Given the description of an element on the screen output the (x, y) to click on. 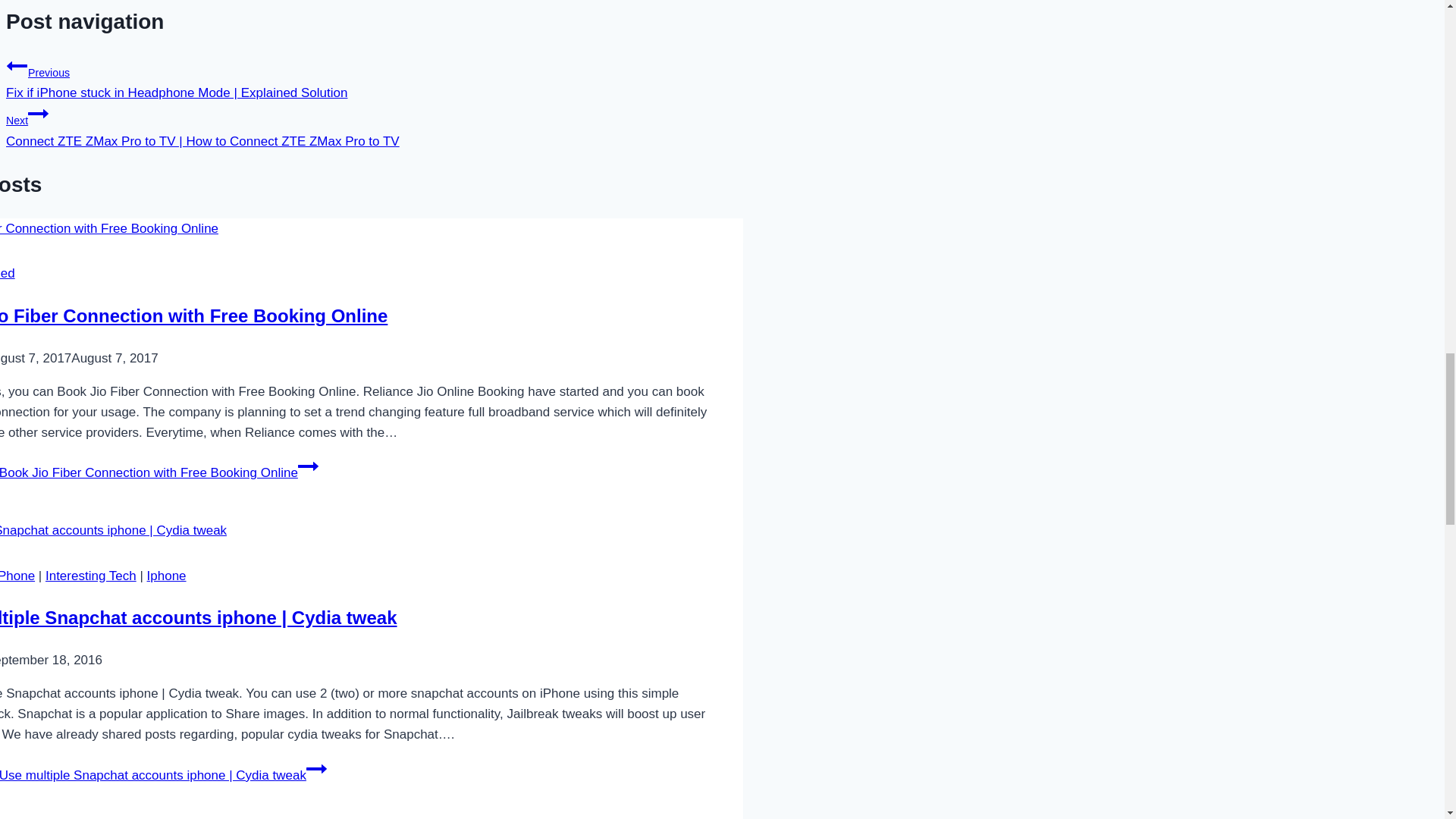
Continue (308, 465)
Book Jio Fiber Connection with Free Booking Online (193, 315)
Previous (16, 65)
Interesting Tech (90, 575)
Continue (315, 768)
interesting iPhone (17, 575)
Iphone (166, 575)
Continue (37, 113)
Uncategorized (7, 273)
